Given the description of an element on the screen output the (x, y) to click on. 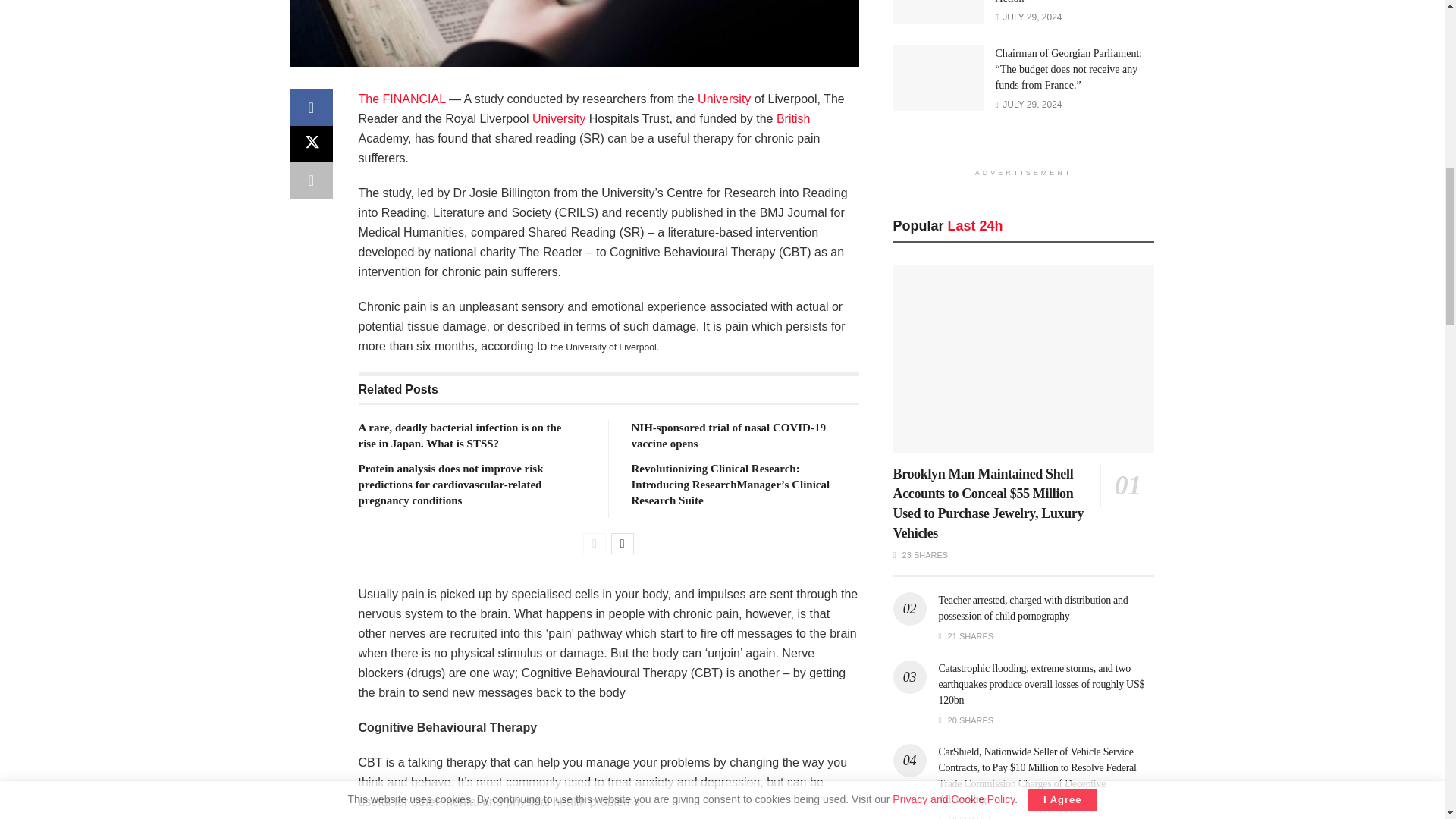
Previous (594, 543)
The FINANCIAL (401, 98)
Next (622, 543)
School (724, 98)
School (558, 118)
British Reporter (792, 118)
